Given the description of an element on the screen output the (x, y) to click on. 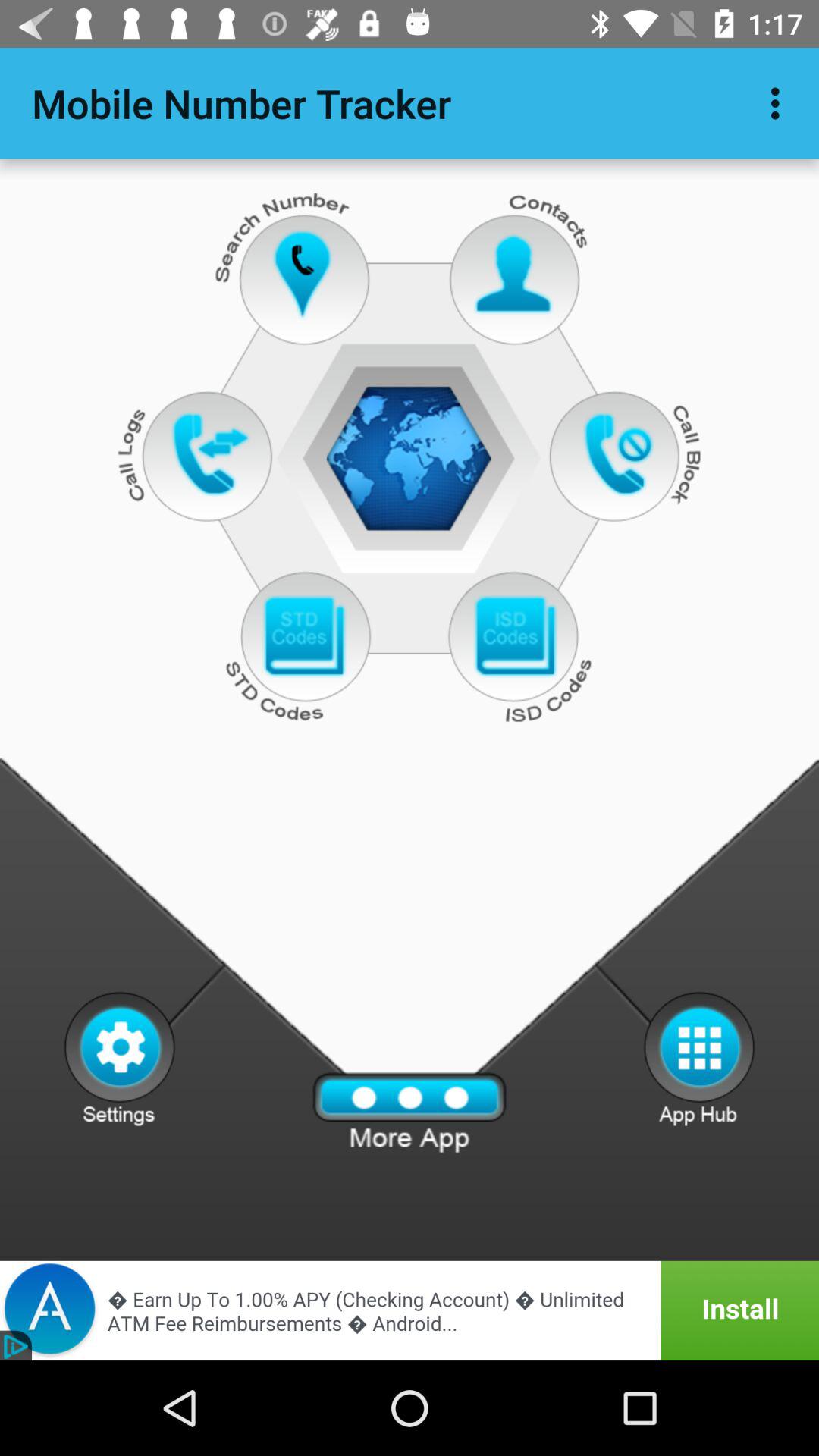
go to previous (514, 637)
